Given the description of an element on the screen output the (x, y) to click on. 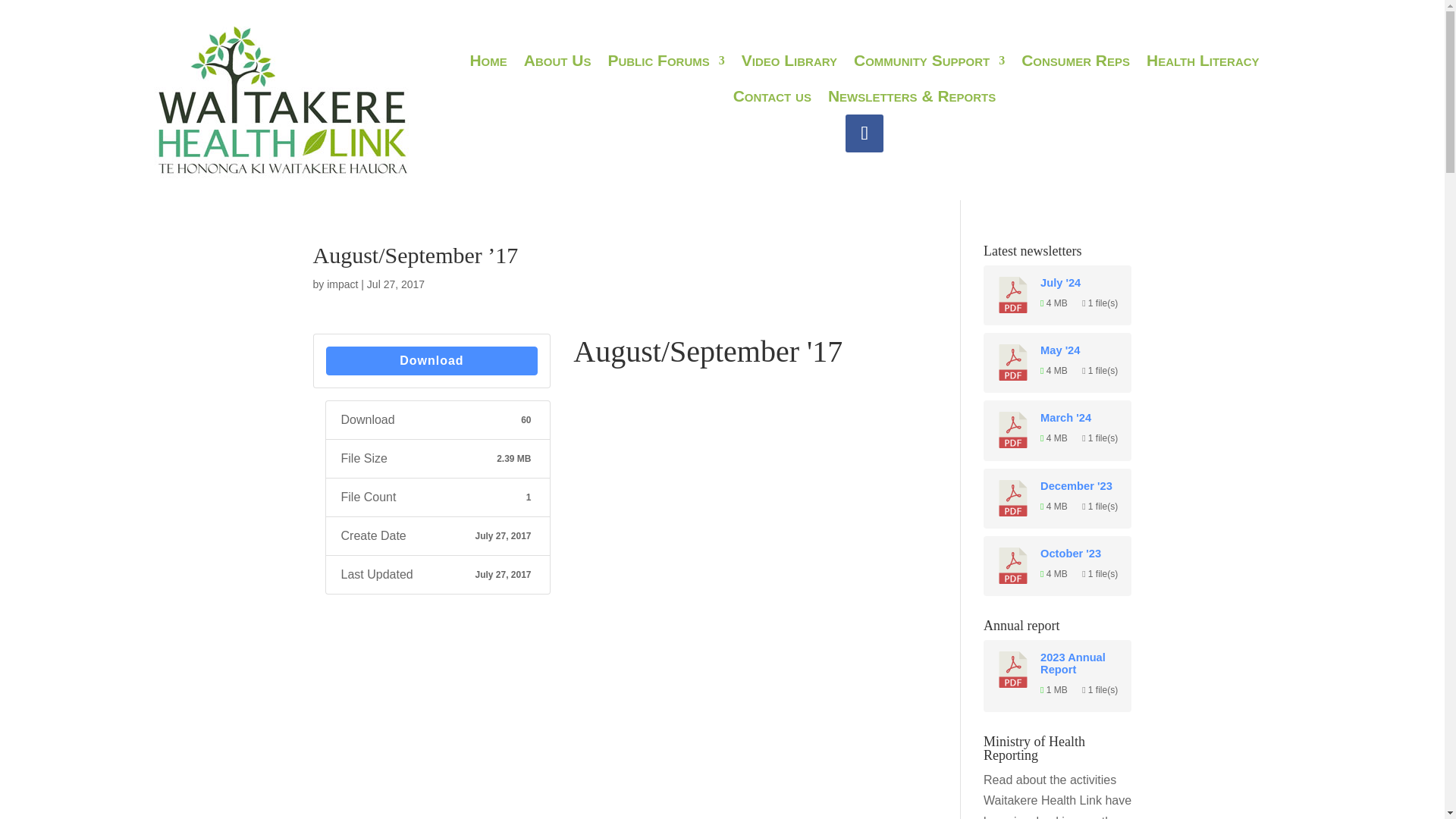
About Us (557, 63)
Follow on Facebook (864, 132)
March '24 (1080, 417)
Community Support (928, 63)
impact (342, 284)
Consumer Reps (1075, 63)
December '23 (1080, 485)
July '24 (1080, 282)
Public Forums (665, 63)
Waitakere Health Link (280, 99)
October '23 (1080, 553)
Posts by impact (342, 284)
Health Literacy (1203, 63)
May '24 (1080, 349)
Video Library (789, 63)
